Given the description of an element on the screen output the (x, y) to click on. 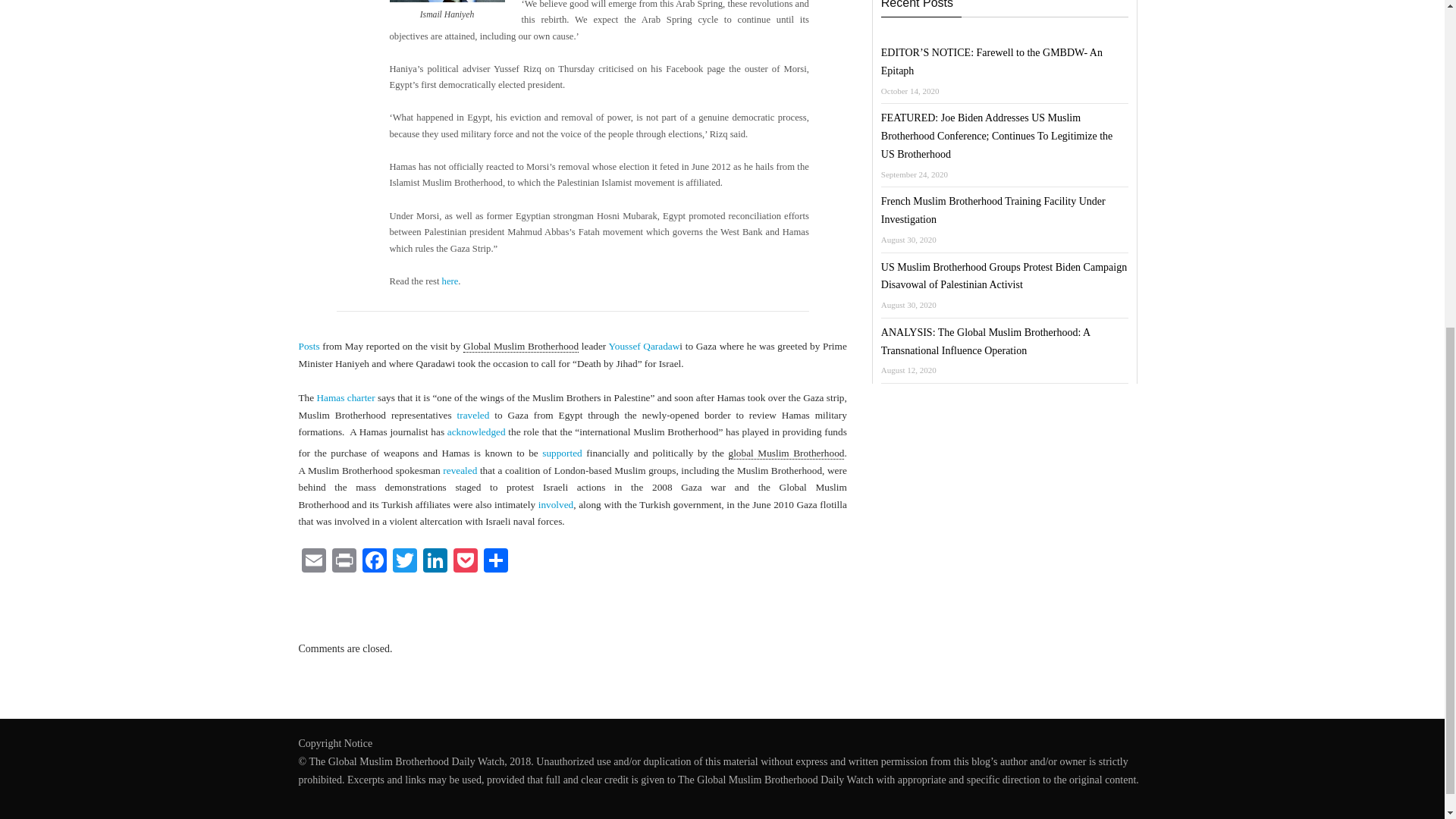
LinkedIn (434, 561)
acknowledged (475, 431)
Print (344, 561)
Pocket (464, 561)
Twitter (405, 561)
traveled (473, 414)
Hamas (331, 397)
Print (344, 561)
Global Muslim Brotherhood (520, 346)
revealed (459, 470)
involved (555, 504)
here (450, 281)
Email (313, 561)
Posts (309, 346)
Email (313, 561)
